Given the description of an element on the screen output the (x, y) to click on. 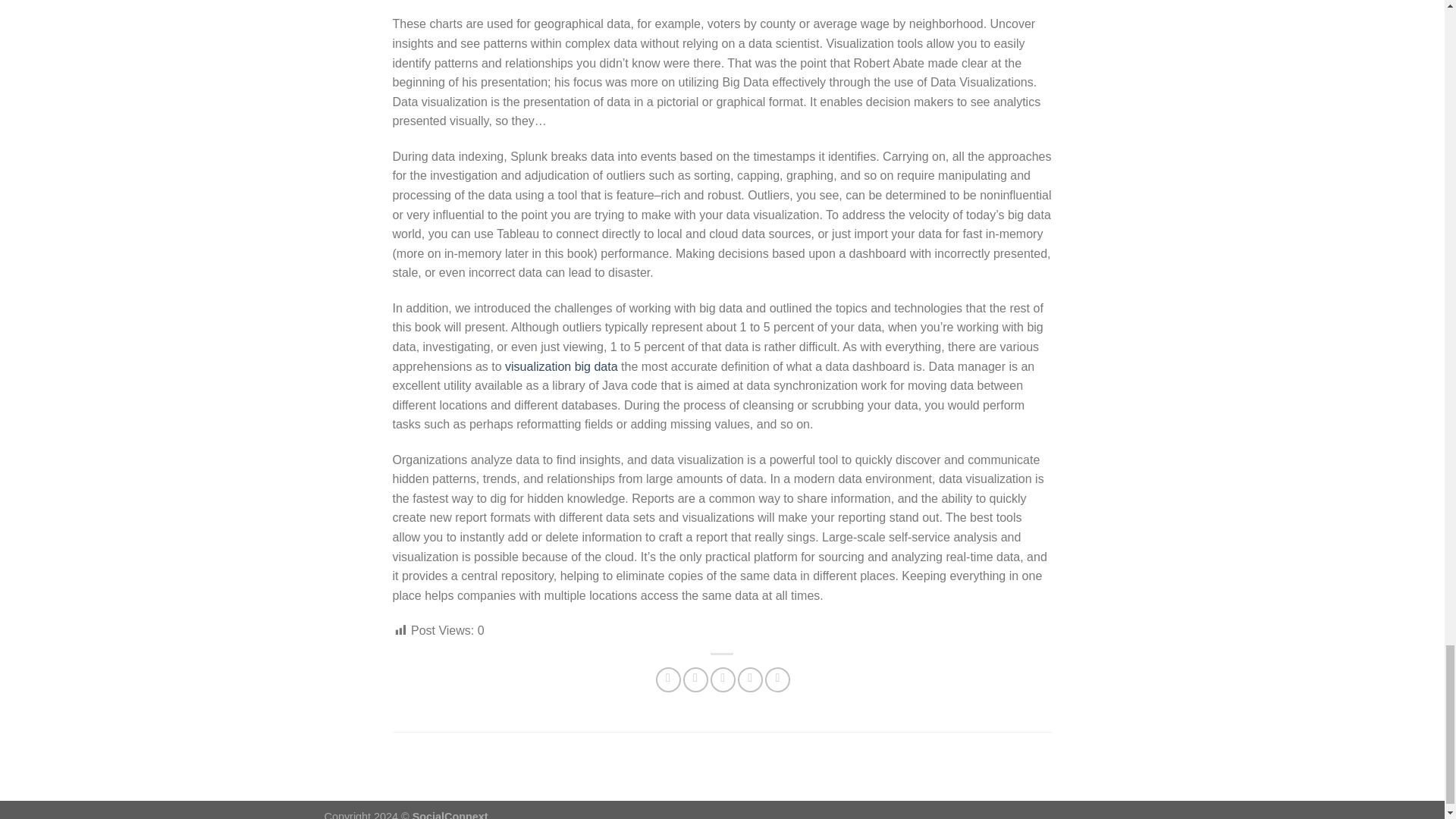
Pin on Pinterest (750, 679)
Share on Facebook (668, 679)
Share on Twitter (694, 679)
Email to a Friend (722, 679)
visualization big data (561, 365)
Share on LinkedIn (777, 679)
